Given the description of an element on the screen output the (x, y) to click on. 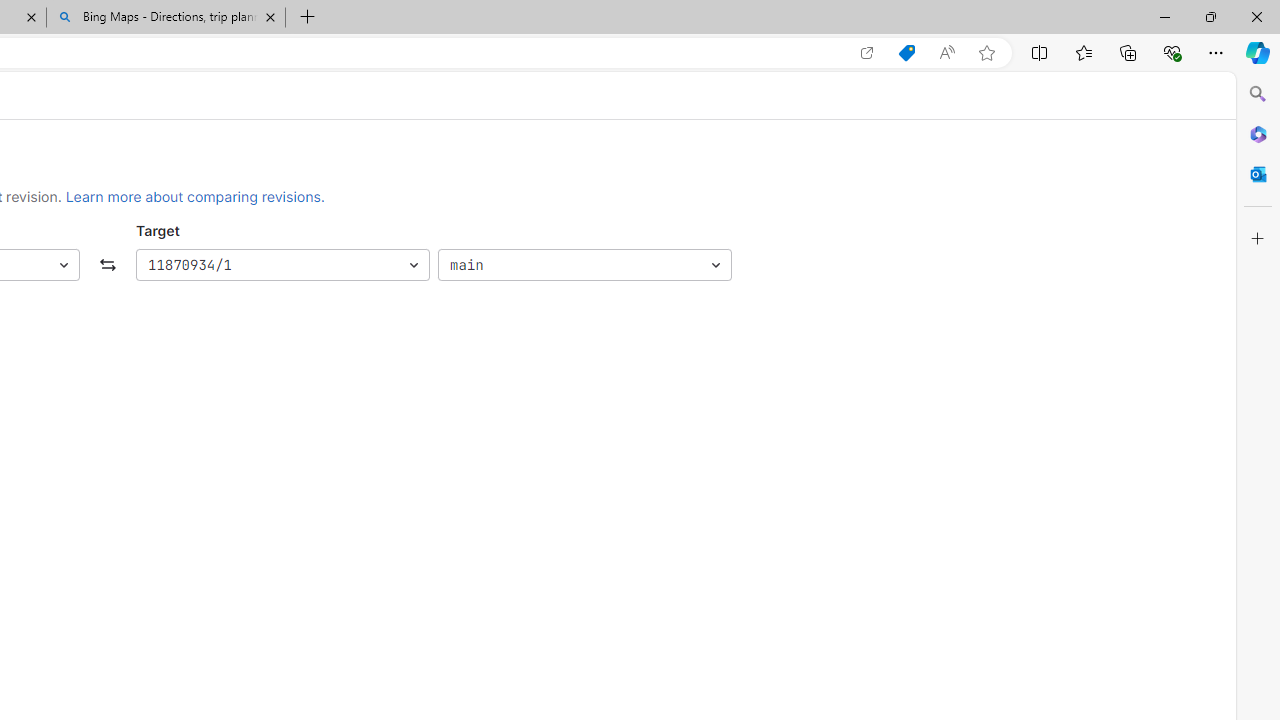
Swap (108, 265)
Open in app (867, 53)
Outlook (1258, 174)
Learn more about comparing revisions. (195, 196)
11870934/1 (282, 265)
main (584, 265)
